Given the description of an element on the screen output the (x, y) to click on. 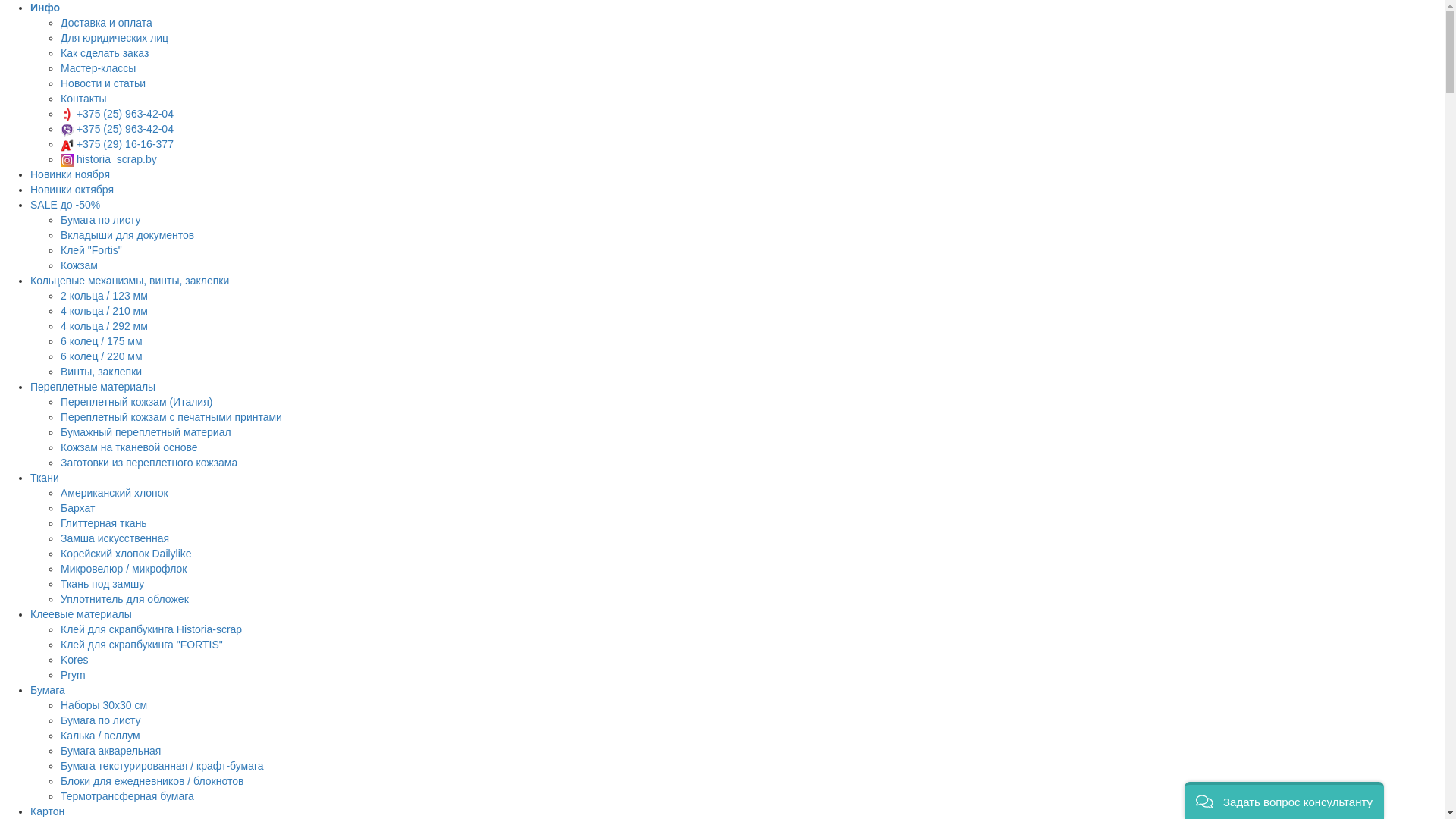
historia_scrap.by Element type: text (108, 159)
+375 (25) 963-42-04 Element type: text (116, 113)
+375 (25) 963-42-04 Element type: text (116, 128)
Prym Element type: text (72, 674)
+375 (29) 16-16-377 Element type: text (116, 144)
Kores Element type: text (74, 659)
